Given the description of an element on the screen output the (x, y) to click on. 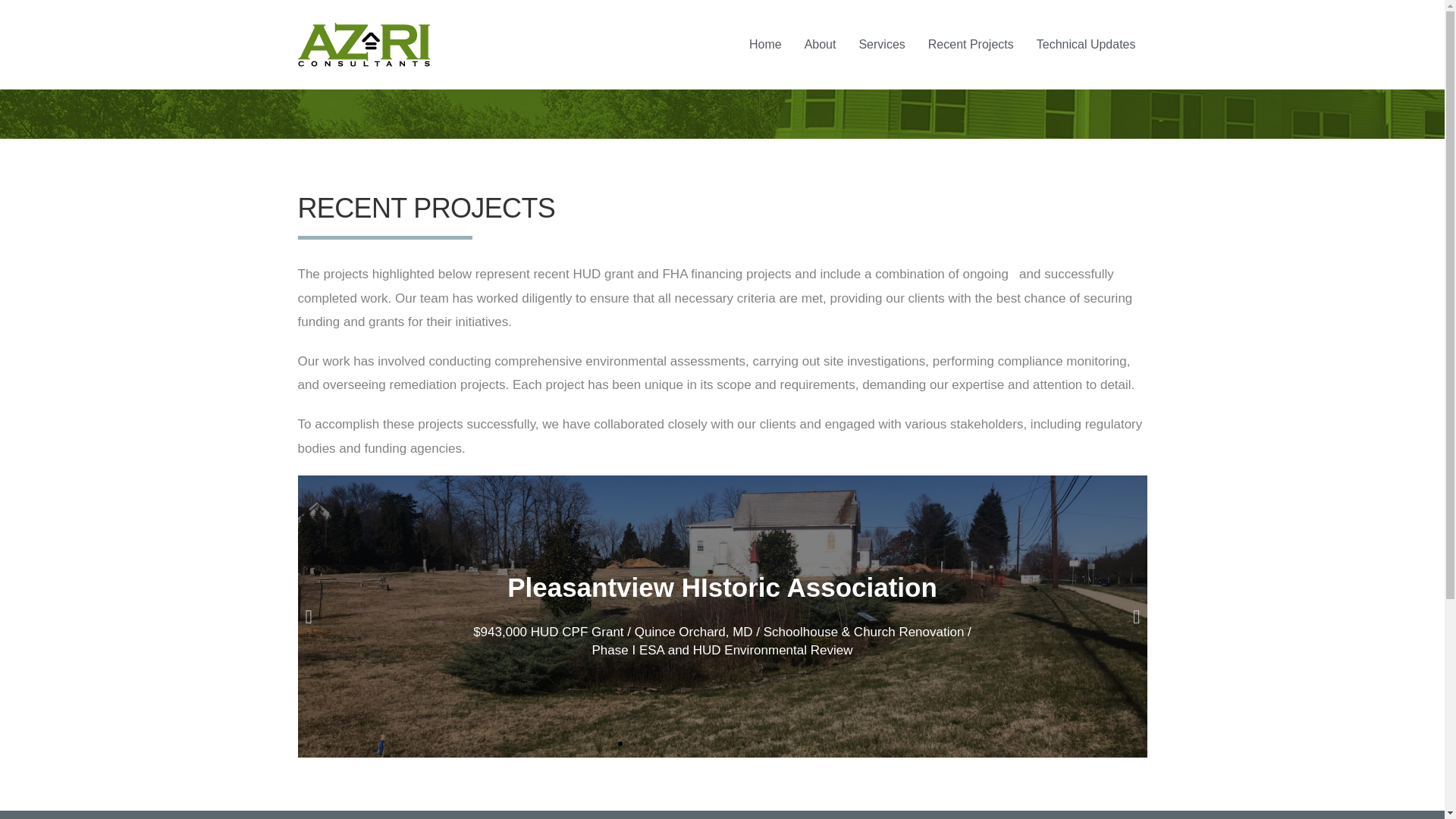
Technical Updates (1086, 44)
Services (881, 44)
About (820, 44)
Home (765, 44)
Recent Projects (971, 44)
